Given the description of an element on the screen output the (x, y) to click on. 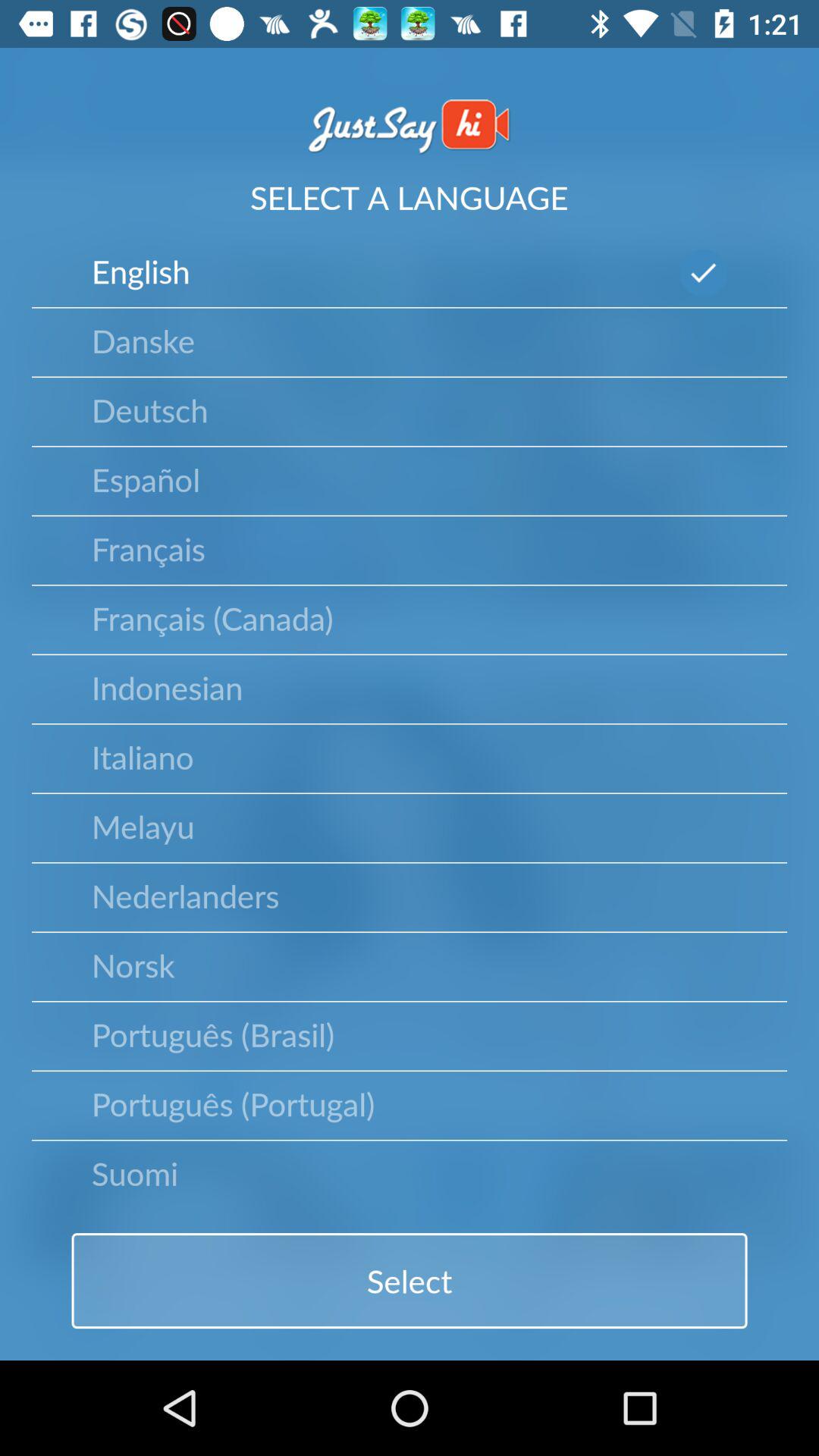
press the item above deutsch icon (143, 340)
